Given the description of an element on the screen output the (x, y) to click on. 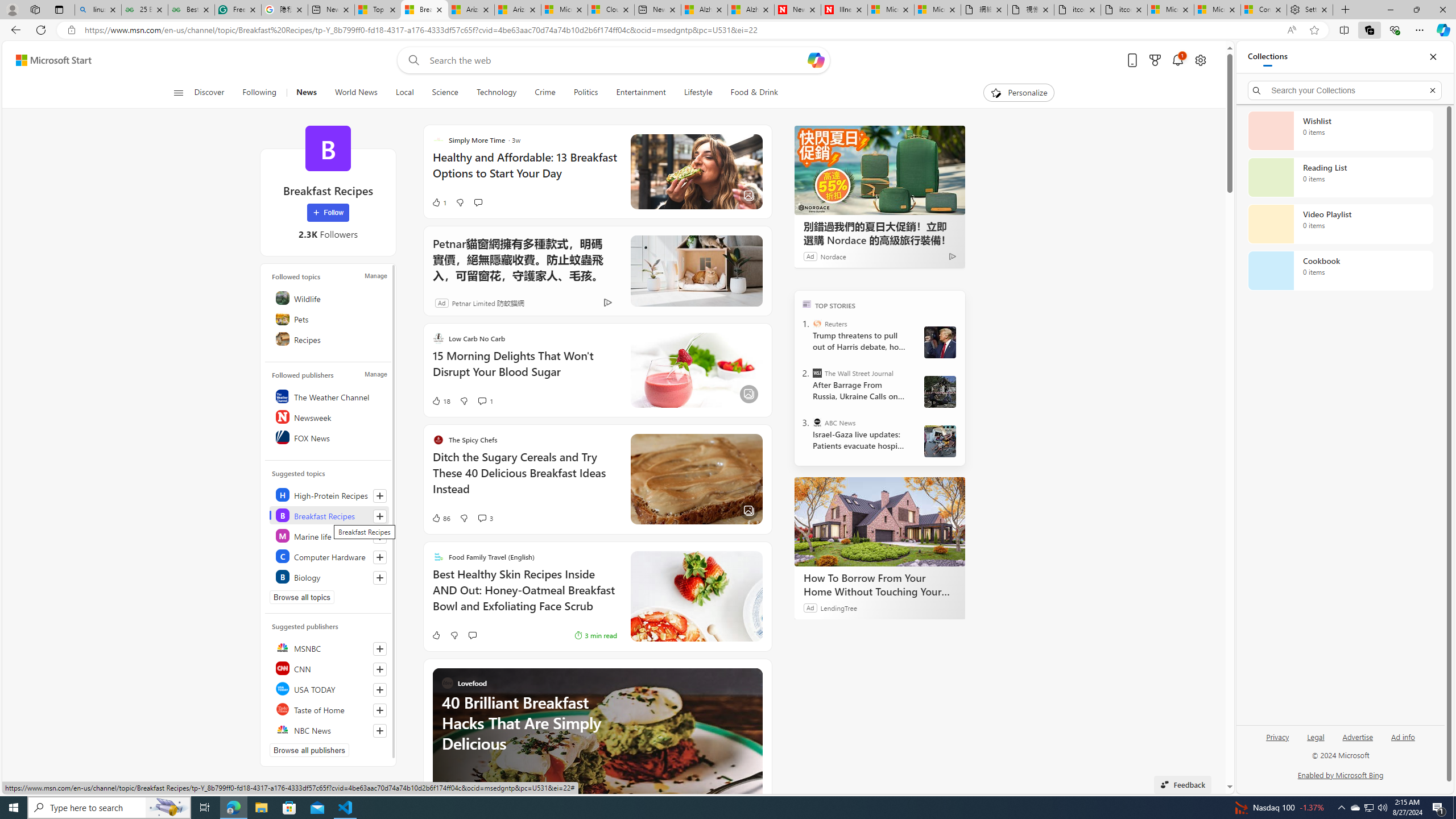
itconcepthk.com/projector_solutions.mp4 (1123, 9)
Search your Collections (1345, 90)
MSNBC (328, 647)
Food & Drink (753, 92)
Class: button-glyph (178, 92)
Politics (585, 92)
Follow this topic (379, 577)
Follow this topic (379, 577)
1 Like (438, 202)
